Given the description of an element on the screen output the (x, y) to click on. 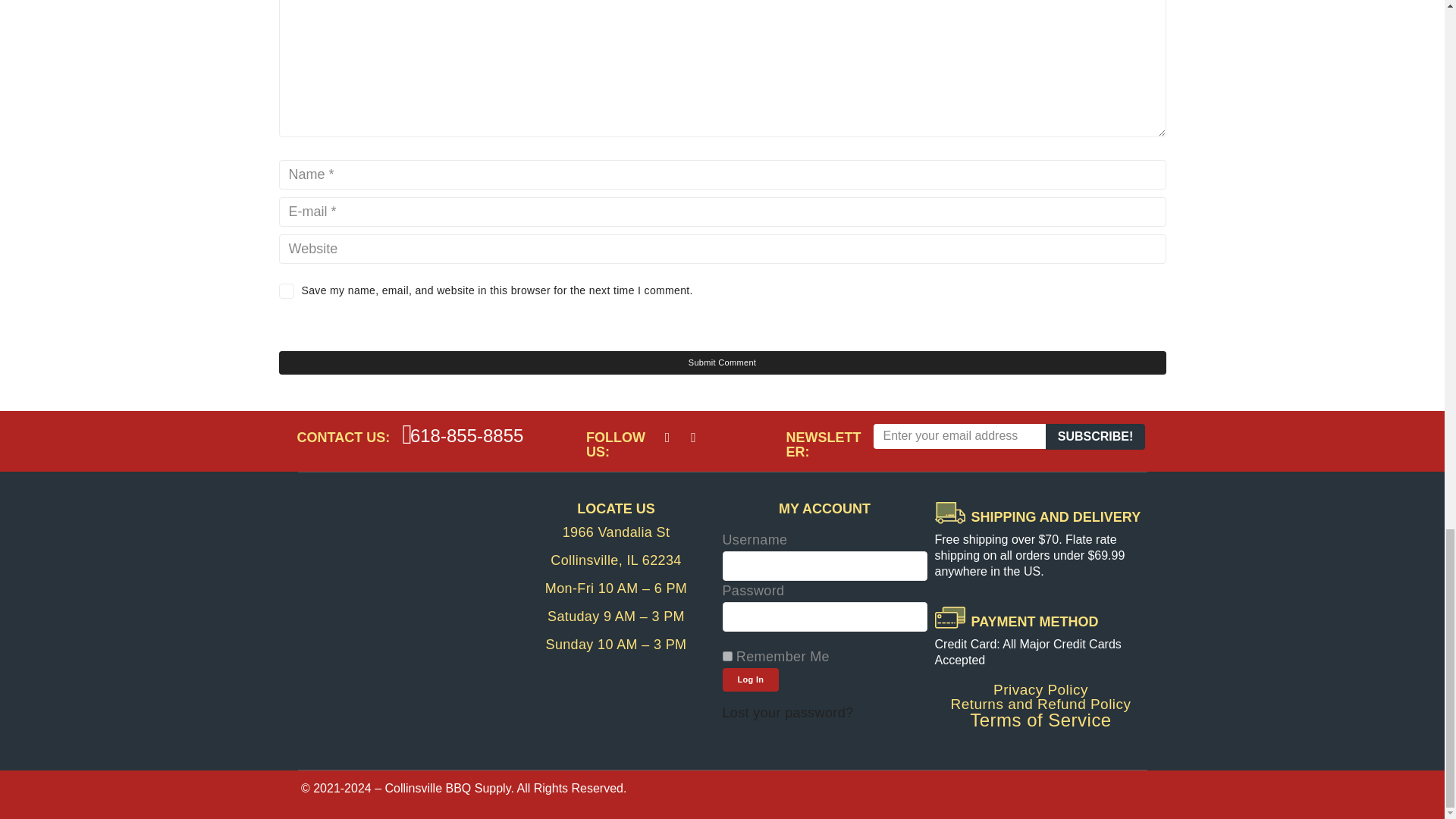
collinsville bbq supply (403, 615)
Submit Comment (722, 362)
Log In (750, 679)
forever (727, 655)
